Given the description of an element on the screen output the (x, y) to click on. 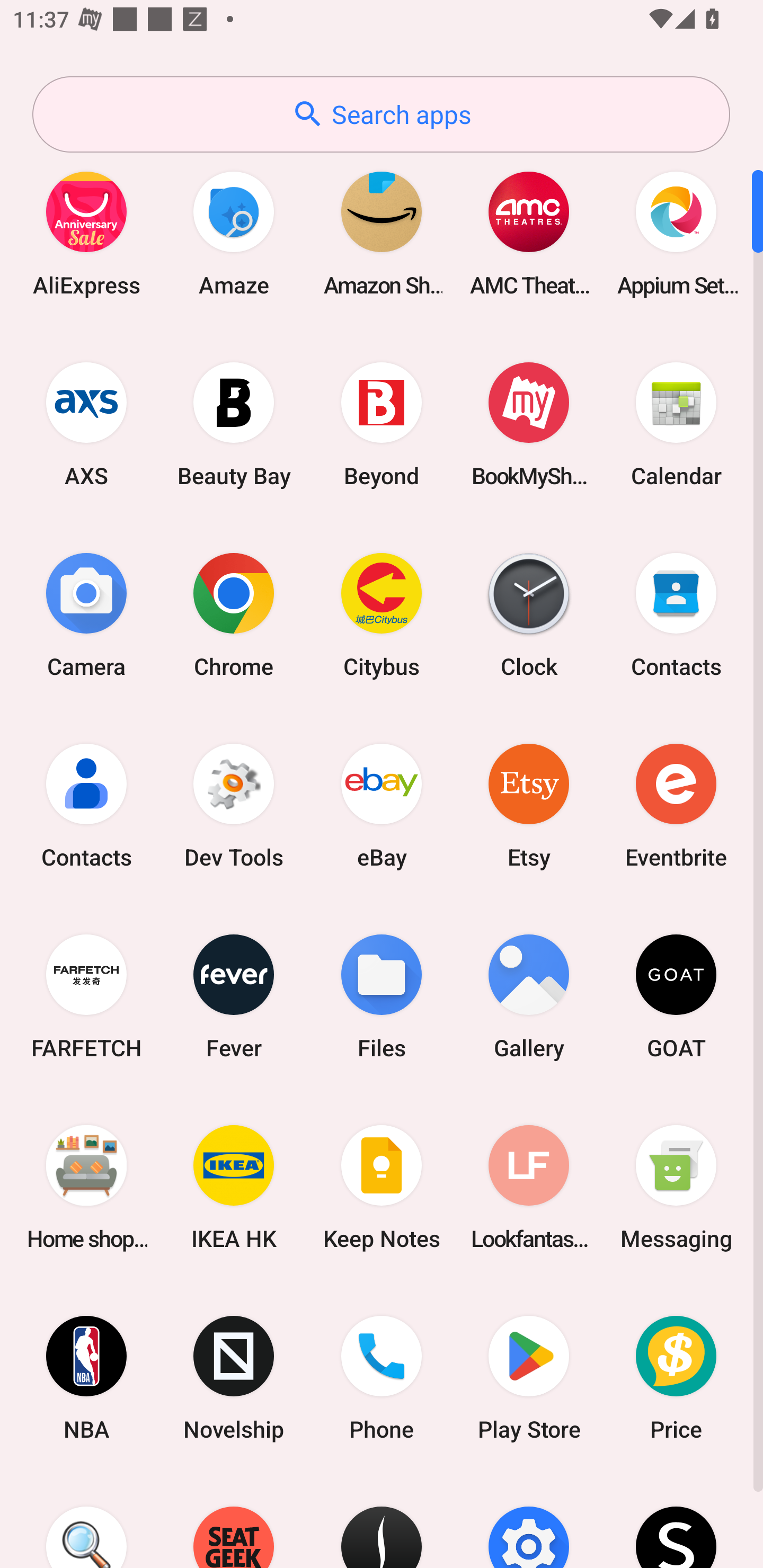
  Search apps (381, 114)
AliExpress (86, 233)
Amaze (233, 233)
Amazon Shopping (381, 233)
AMC Theatres (528, 233)
Appium Settings (676, 233)
AXS (86, 424)
Beauty Bay (233, 424)
Beyond (381, 424)
BookMyShow (528, 424)
Calendar (676, 424)
Camera (86, 614)
Chrome (233, 614)
Citybus (381, 614)
Clock (528, 614)
Contacts (676, 614)
Contacts (86, 805)
Dev Tools (233, 805)
eBay (381, 805)
Etsy (528, 805)
Eventbrite (676, 805)
FARFETCH (86, 996)
Fever (233, 996)
Files (381, 996)
Gallery (528, 996)
GOAT (676, 996)
Home shopping (86, 1186)
IKEA HK (233, 1186)
Keep Notes (381, 1186)
Lookfantastic (528, 1186)
Messaging (676, 1186)
NBA (86, 1377)
Novelship (233, 1377)
Phone (381, 1377)
Play Store (528, 1377)
Price (676, 1377)
